Given the description of an element on the screen output the (x, y) to click on. 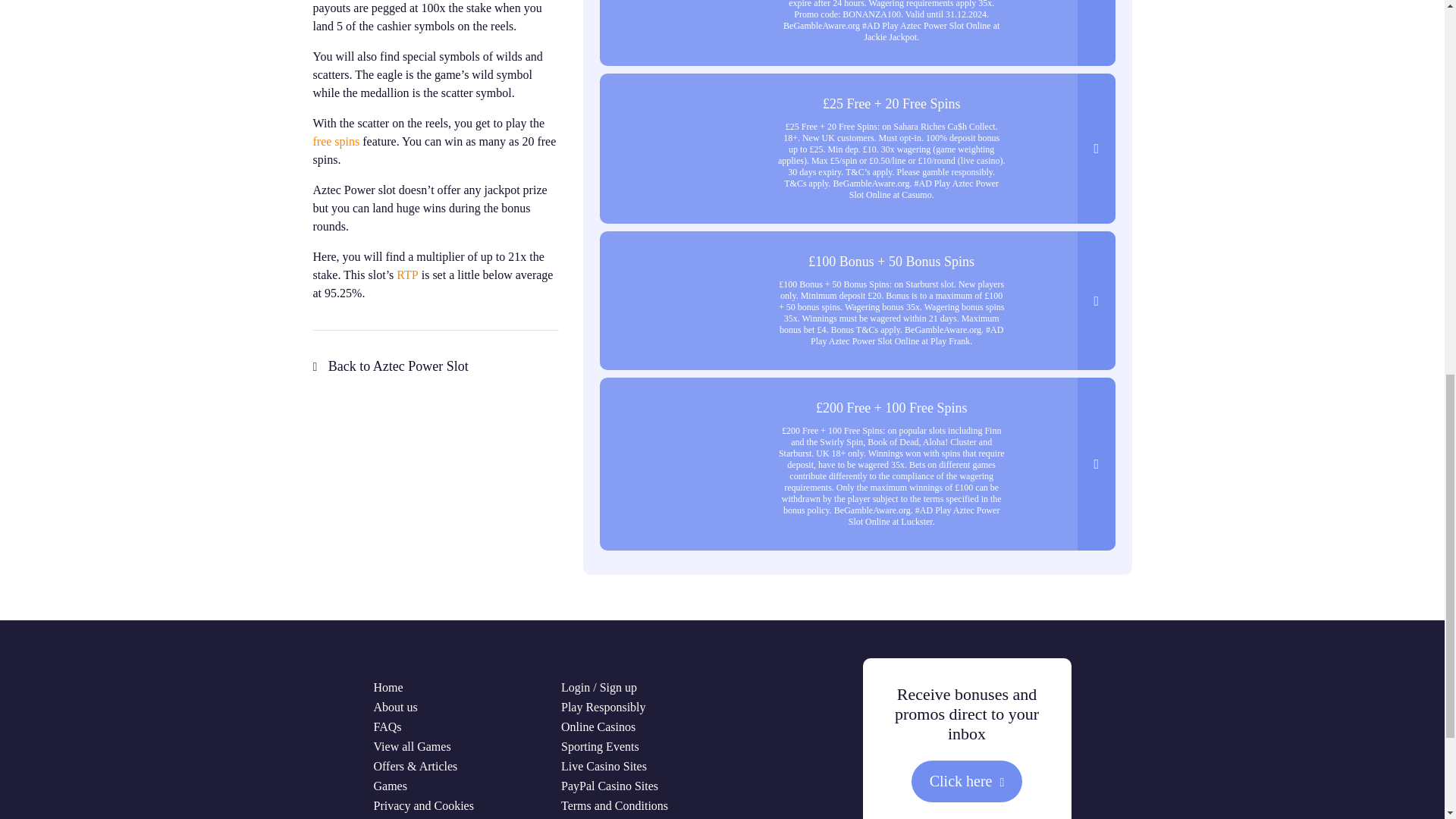
Online Casinos (597, 726)
Free Spins And Bonus Offers (336, 141)
PayPal Casino Sites (609, 785)
View all Games (410, 746)
Games (389, 785)
Home (387, 686)
Live Casino Sites (603, 766)
free spins (336, 141)
Play Responsibly (603, 707)
Back to Aztec Power Slot (390, 365)
Click here (967, 781)
FAQs (386, 726)
RTP (406, 274)
Privacy and Cookies (422, 805)
About us (394, 707)
